Given the description of an element on the screen output the (x, y) to click on. 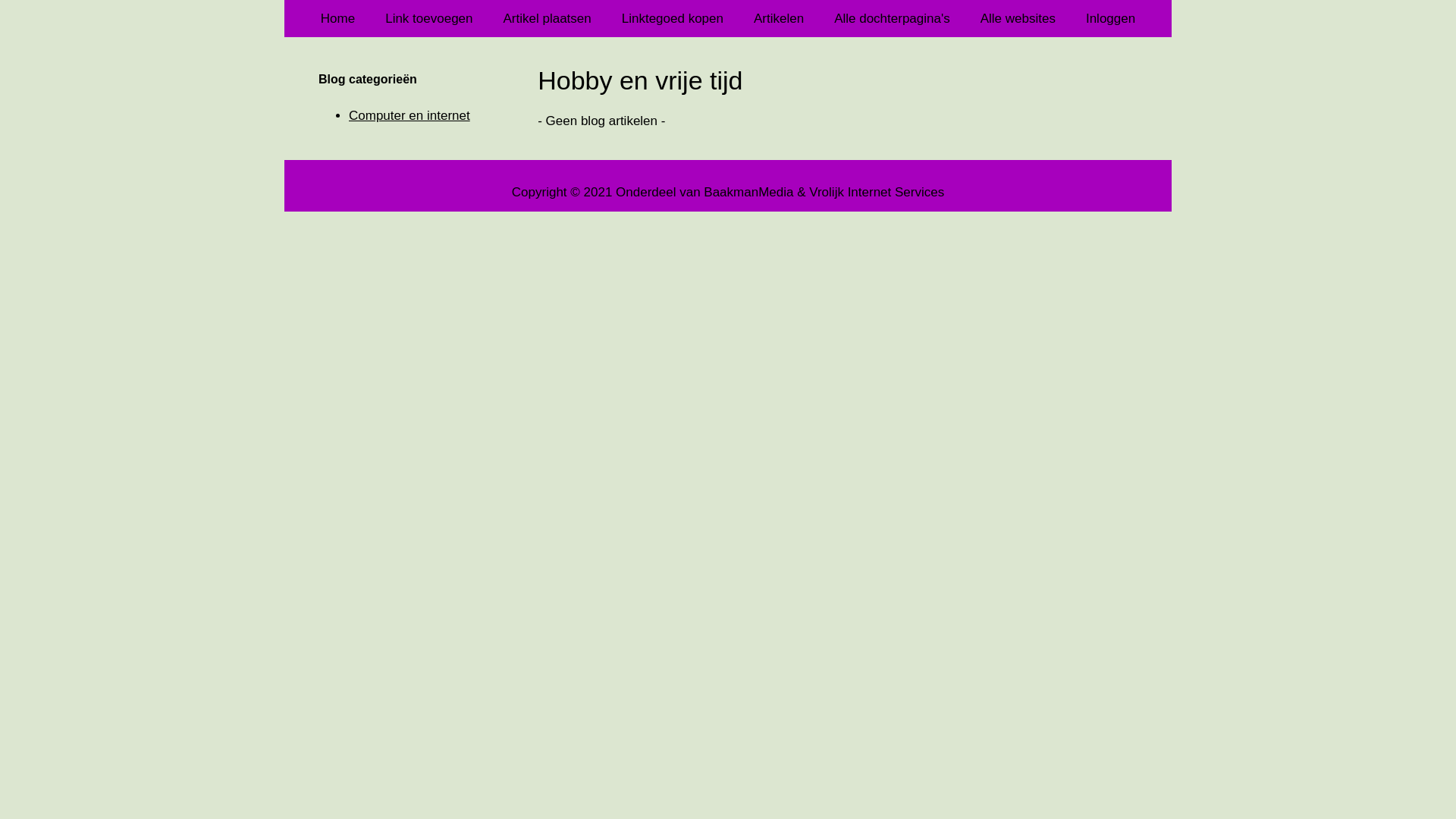
Artikelen Element type: text (778, 18)
Linktegoed kopen Element type: text (672, 18)
Home Element type: text (337, 18)
Alle dochterpagina's Element type: text (892, 18)
Link toevoegen Element type: text (428, 18)
Artikel plaatsen Element type: text (547, 18)
Alle websites Element type: text (1017, 18)
Vrolijk Internet Services Element type: text (876, 191)
BaakmanMedia Element type: text (748, 191)
Inloggen Element type: text (1110, 18)
Computer en internet Element type: text (409, 115)
